Given the description of an element on the screen output the (x, y) to click on. 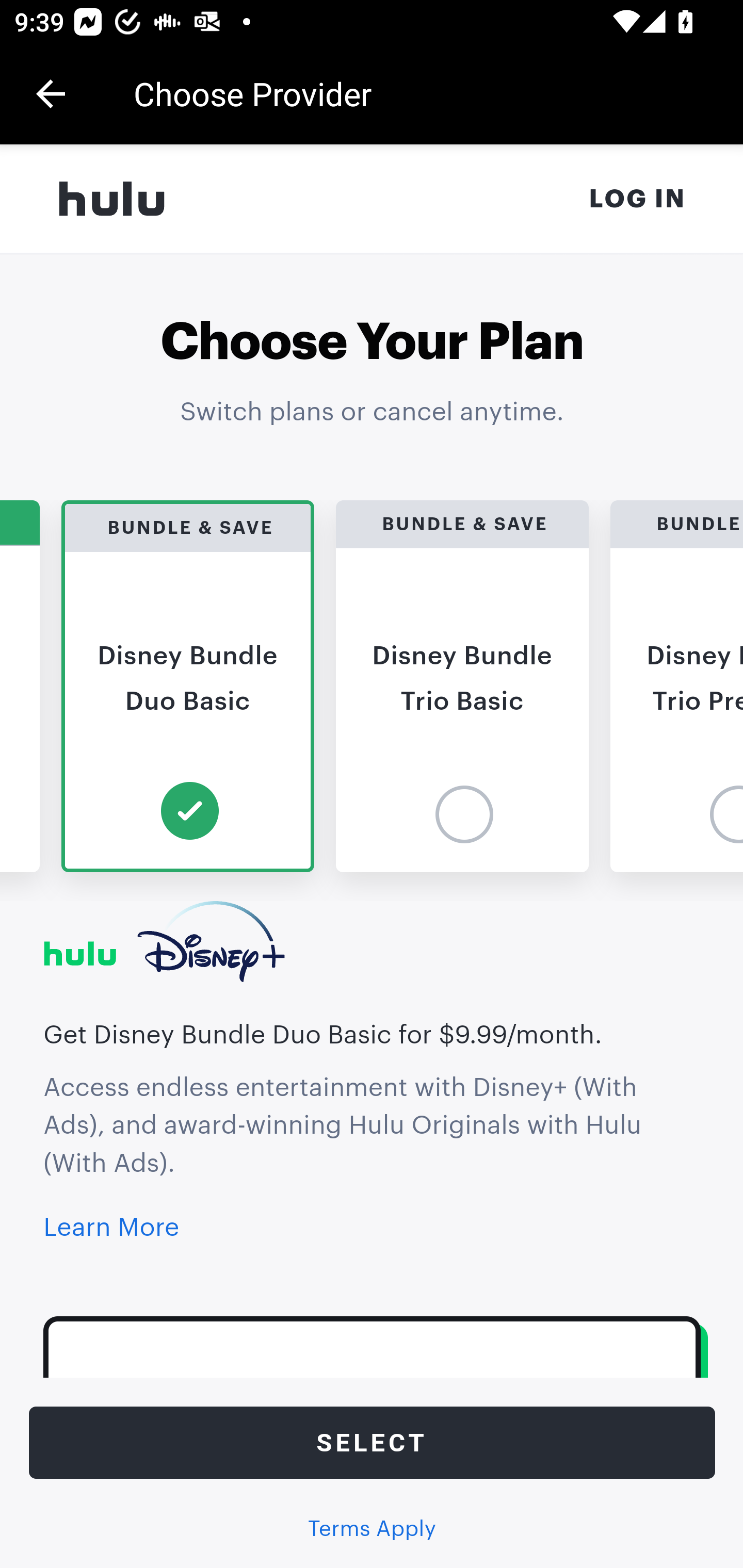
Navigate up (50, 93)
LOG IN (638, 199)
BUNDLE & SAVE Disney Bundle Duo Basic (188, 685)
BUNDLE & SAVE Disney Bundle Trio Basic (461, 685)
BUNDLE & SAVE Disney Bundle Trio Premium (676, 685)
Learn More (111, 1228)
Select Disney Bundle Duo Basic for $9.99/month (372, 1443)
Terms Apply (371, 1528)
